Given the description of an element on the screen output the (x, y) to click on. 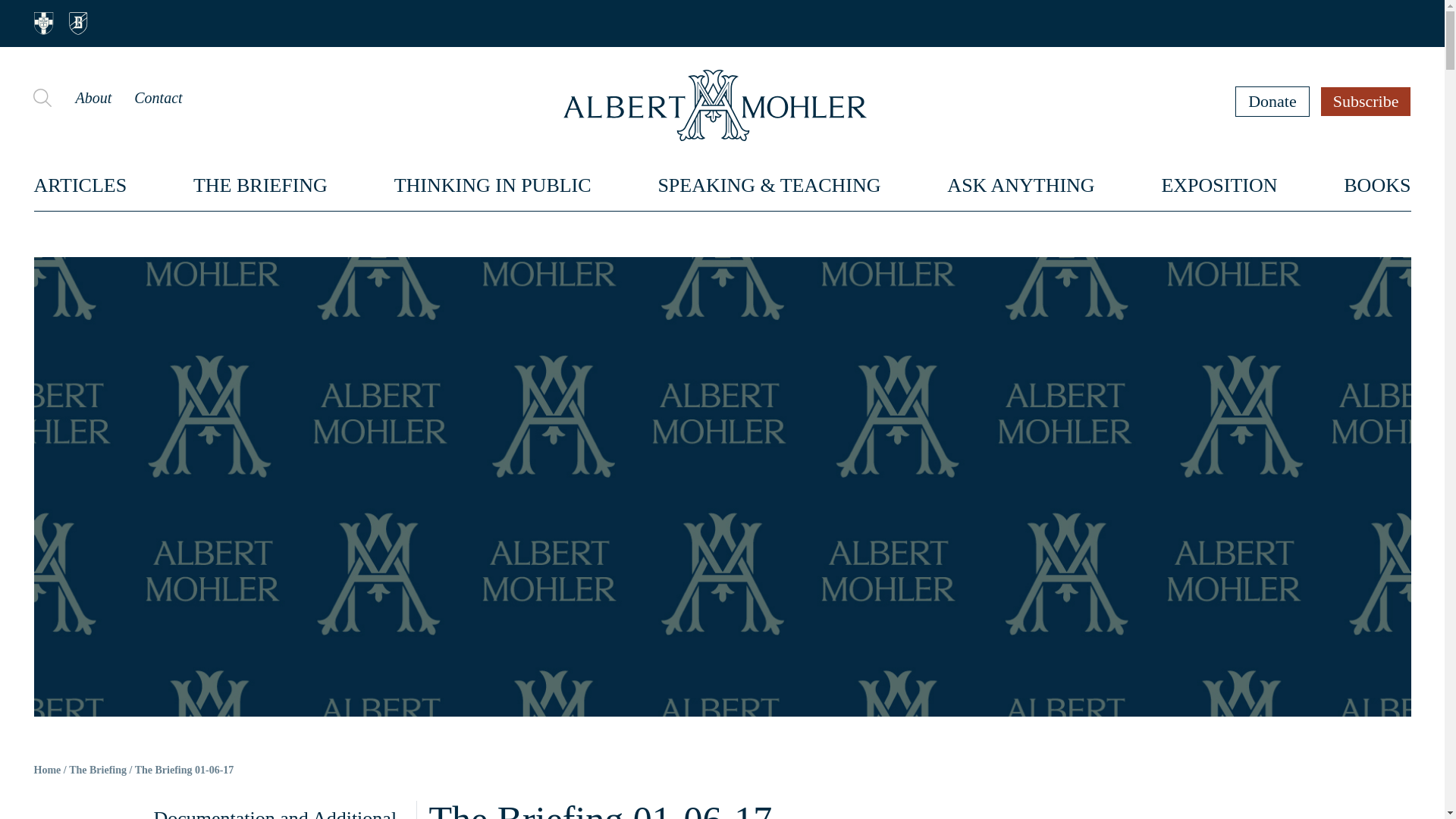
ARTICLES (79, 185)
EXPOSITION (1218, 185)
Donate (1272, 101)
BOOKS (1376, 185)
The Briefing (97, 770)
About (93, 97)
ASK ANYTHING (1020, 185)
Home (47, 770)
THINKING IN PUBLIC (492, 185)
Subscribe (1366, 101)
